Given the description of an element on the screen output the (x, y) to click on. 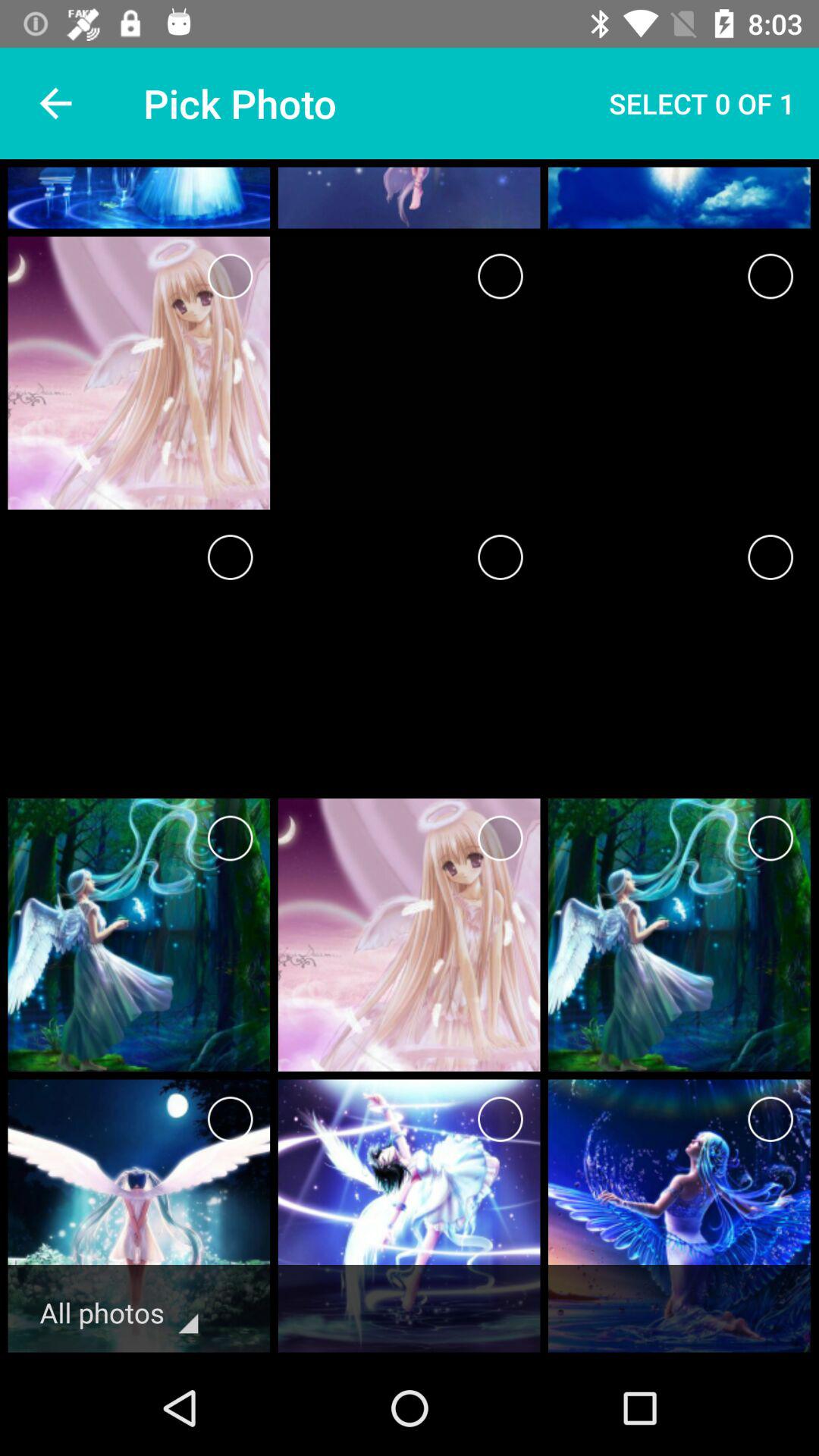
select page (230, 838)
